Given the description of an element on the screen output the (x, y) to click on. 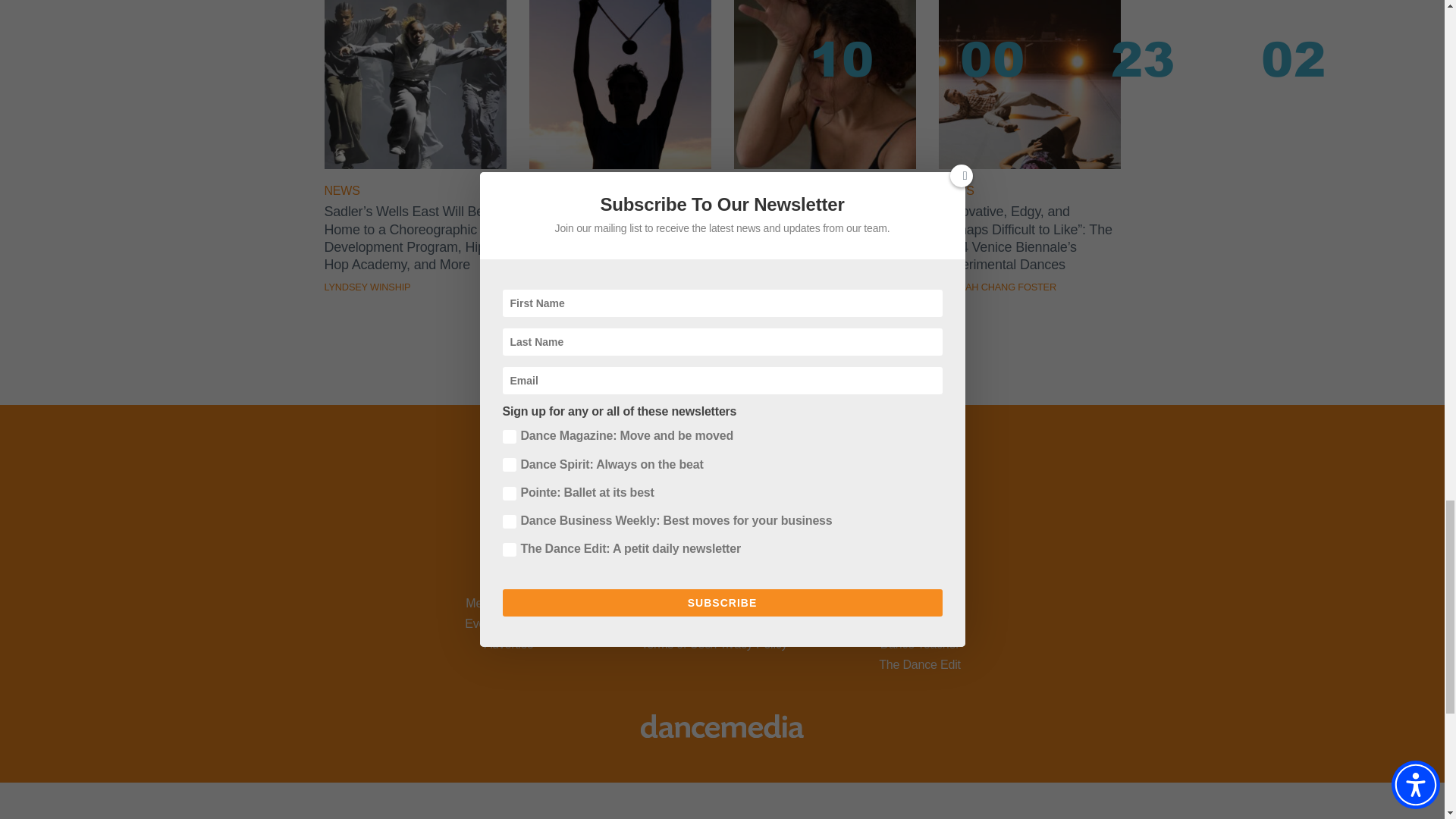
Follow on Youtube (741, 550)
Will the Olympics Help Dancers Get Paid Like Athletes? (620, 164)
Follow on Instagram (702, 550)
Follow on Facebook (623, 550)
Follow on Twitter (662, 550)
